Given the description of an element on the screen output the (x, y) to click on. 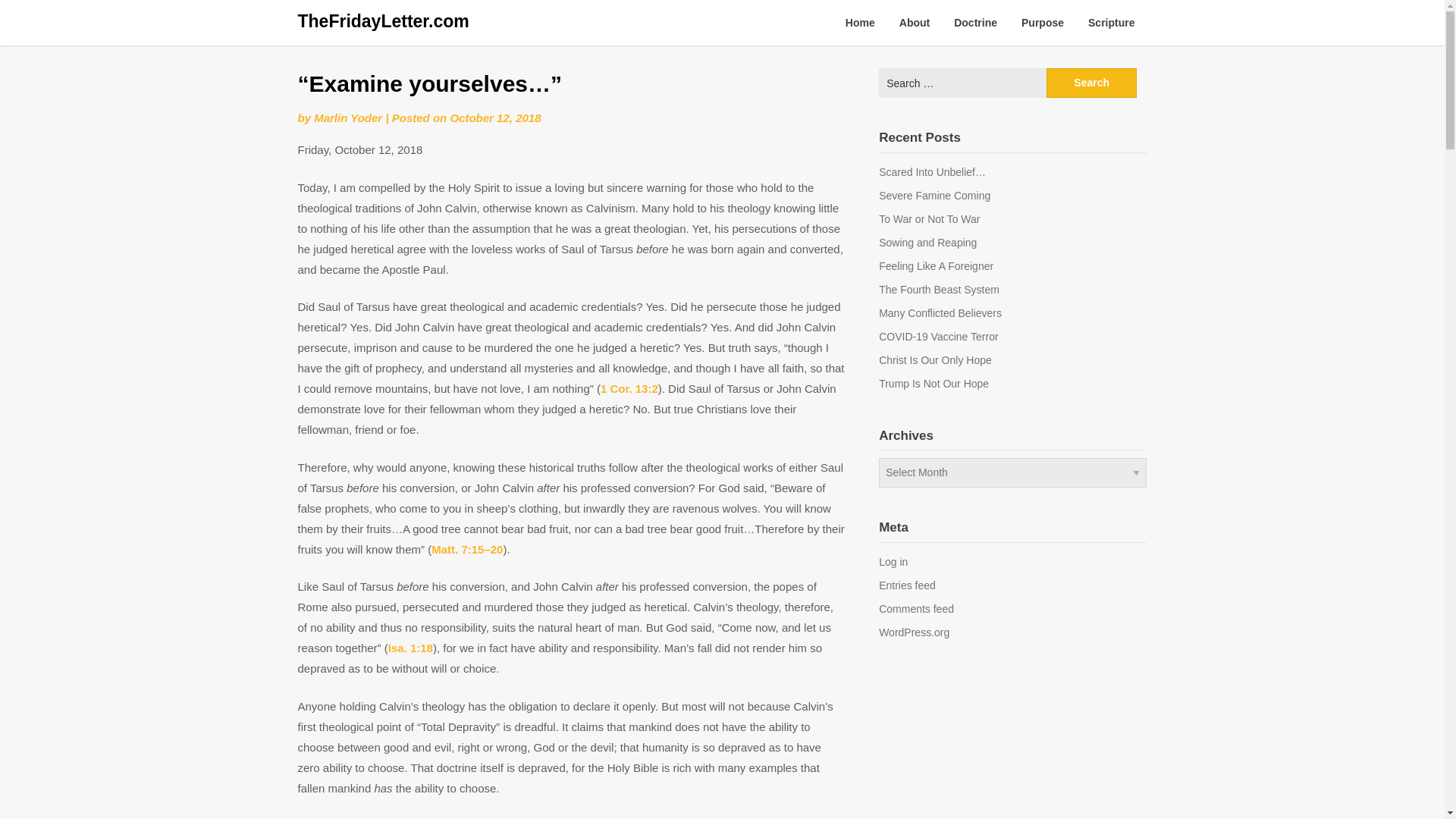
Home (859, 22)
Search (1091, 82)
Scripture (1111, 22)
Search (1091, 82)
Isa. 1:18 (410, 647)
October 12, 2018 (494, 117)
1 Cor. 13:2 (628, 388)
Doctrine (975, 22)
Marlin Yoder (347, 117)
Purpose (1042, 22)
TheFridayLetter.com (382, 21)
About (914, 22)
